Given the description of an element on the screen output the (x, y) to click on. 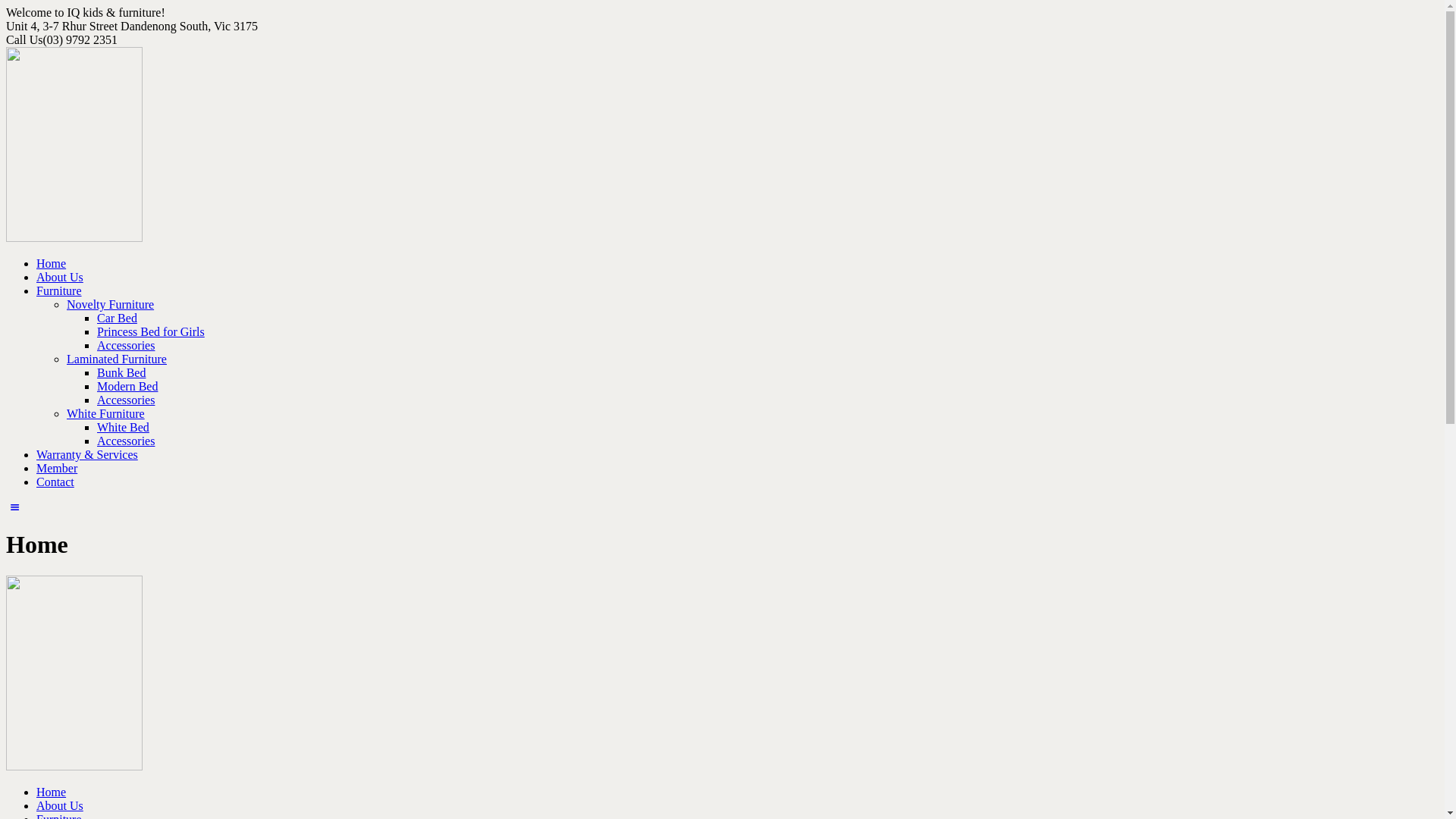
Princess Bed for Girls Element type: text (150, 331)
Laminated Furniture Element type: text (116, 358)
Novelty Furniture Element type: text (109, 304)
Home Element type: text (50, 263)
Contact Element type: text (55, 481)
White Furniture Element type: text (105, 413)
Bunk Bed Element type: text (121, 372)
About Us Element type: text (59, 276)
Furniture Element type: text (58, 290)
About Us Element type: text (59, 805)
White Bed Element type: text (123, 426)
Accessories Element type: text (125, 440)
Home Element type: text (50, 791)
Modern Bed Element type: text (127, 385)
Accessories Element type: text (125, 344)
Warranty & Services Element type: text (87, 454)
Accessories Element type: text (125, 399)
Member Element type: text (56, 467)
Car Bed Element type: text (117, 317)
